Given the description of an element on the screen output the (x, y) to click on. 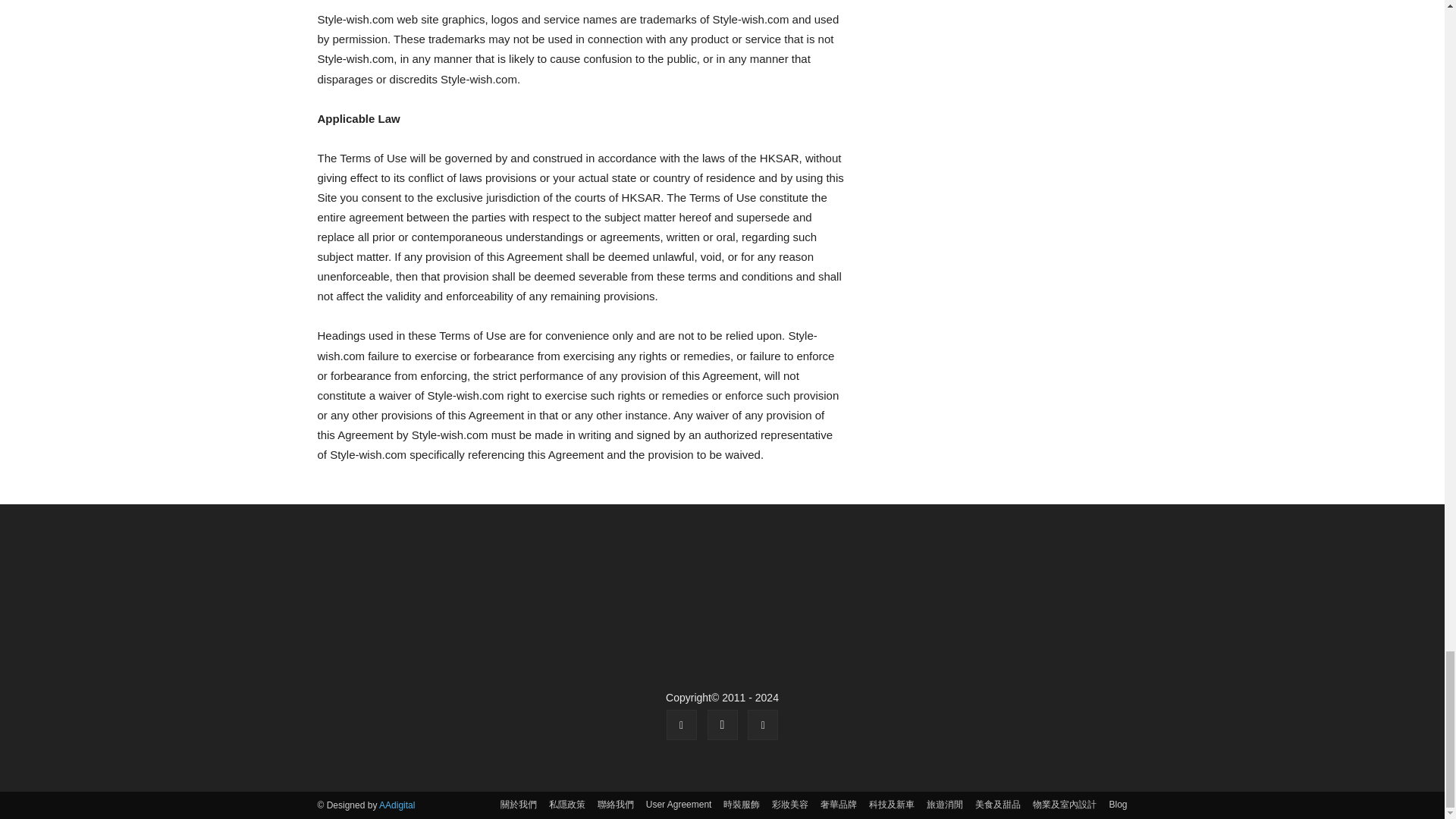
Instagram (721, 725)
Youtube (762, 725)
Facebook (681, 725)
